Given the description of an element on the screen output the (x, y) to click on. 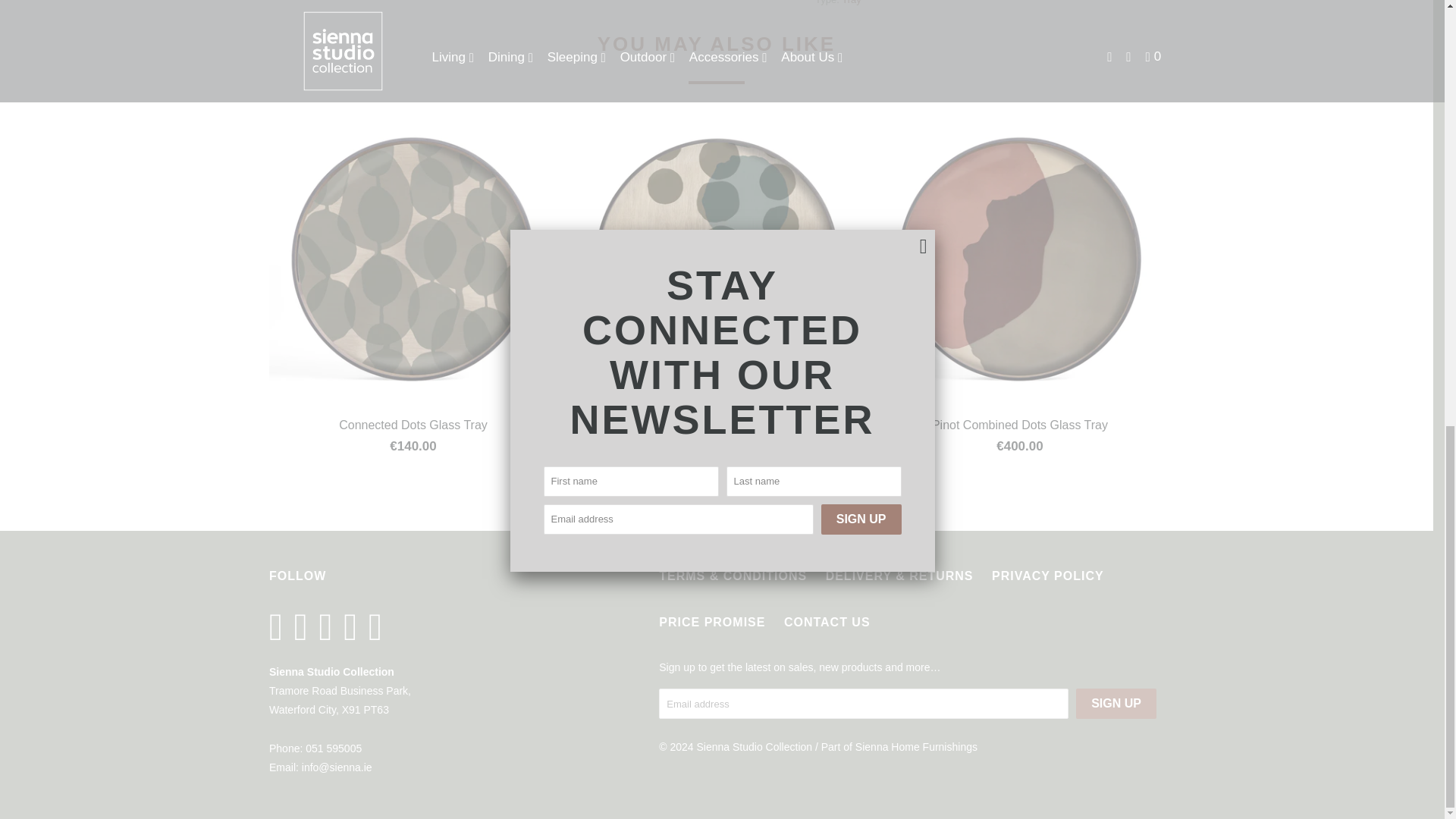
Sign Up (1115, 703)
